Given the description of an element on the screen output the (x, y) to click on. 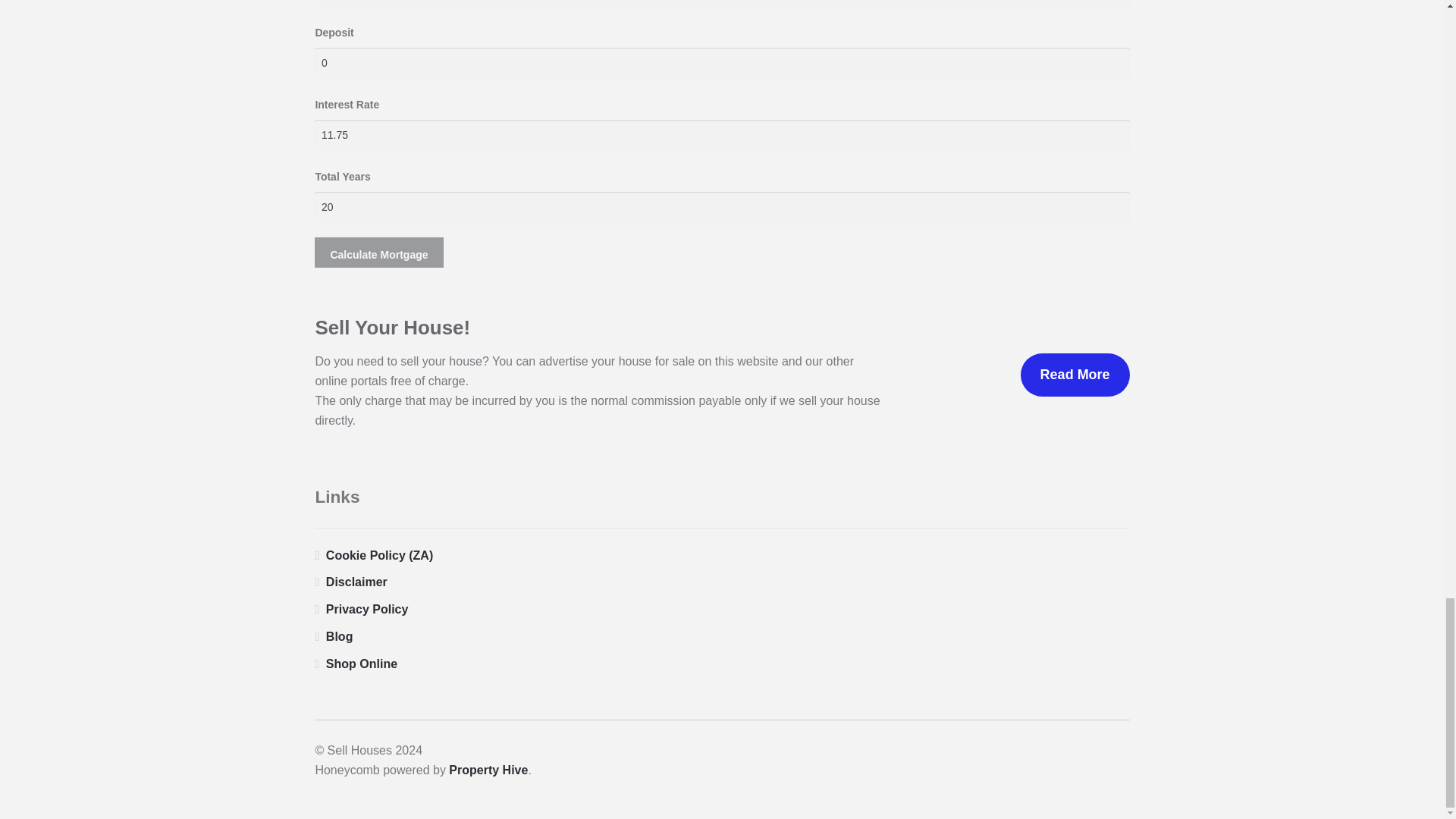
Calculate Mortgage (378, 252)
0 (721, 62)
20 (721, 206)
11.75 (721, 134)
